Given the description of an element on the screen output the (x, y) to click on. 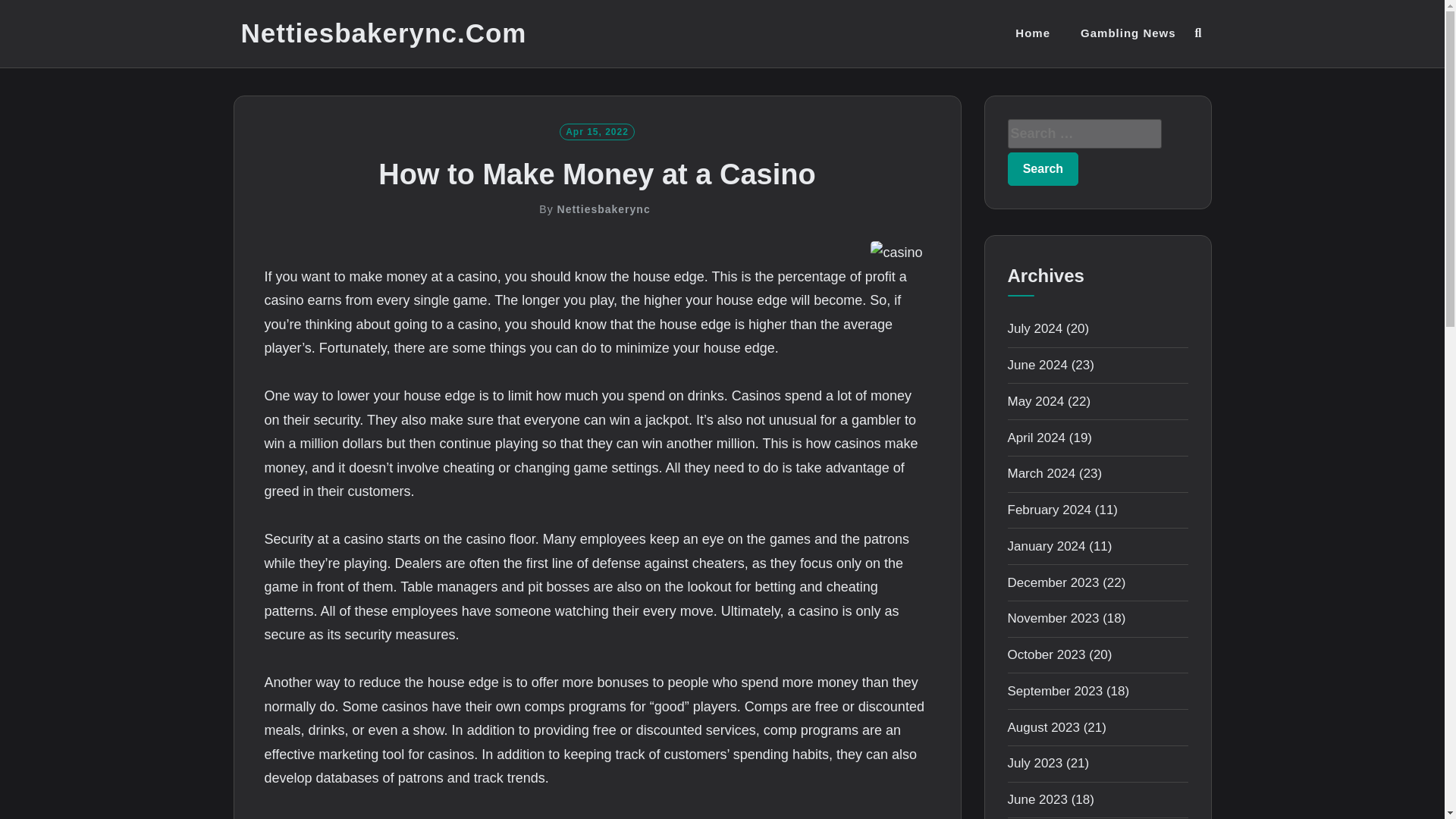
July 2023 (1034, 762)
Search (1042, 168)
Nettiesbakerync (603, 209)
Search (1042, 168)
Search (1042, 168)
November 2023 (1053, 617)
Nettiesbakerync.Com (384, 33)
March 2024 (1041, 473)
July 2024 (1034, 328)
May 2024 (1035, 400)
June 2024 (1037, 364)
Apr 15, 2022 (596, 130)
June 2023 (1037, 799)
Gambling News (1128, 33)
December 2023 (1053, 582)
